Given the description of an element on the screen output the (x, y) to click on. 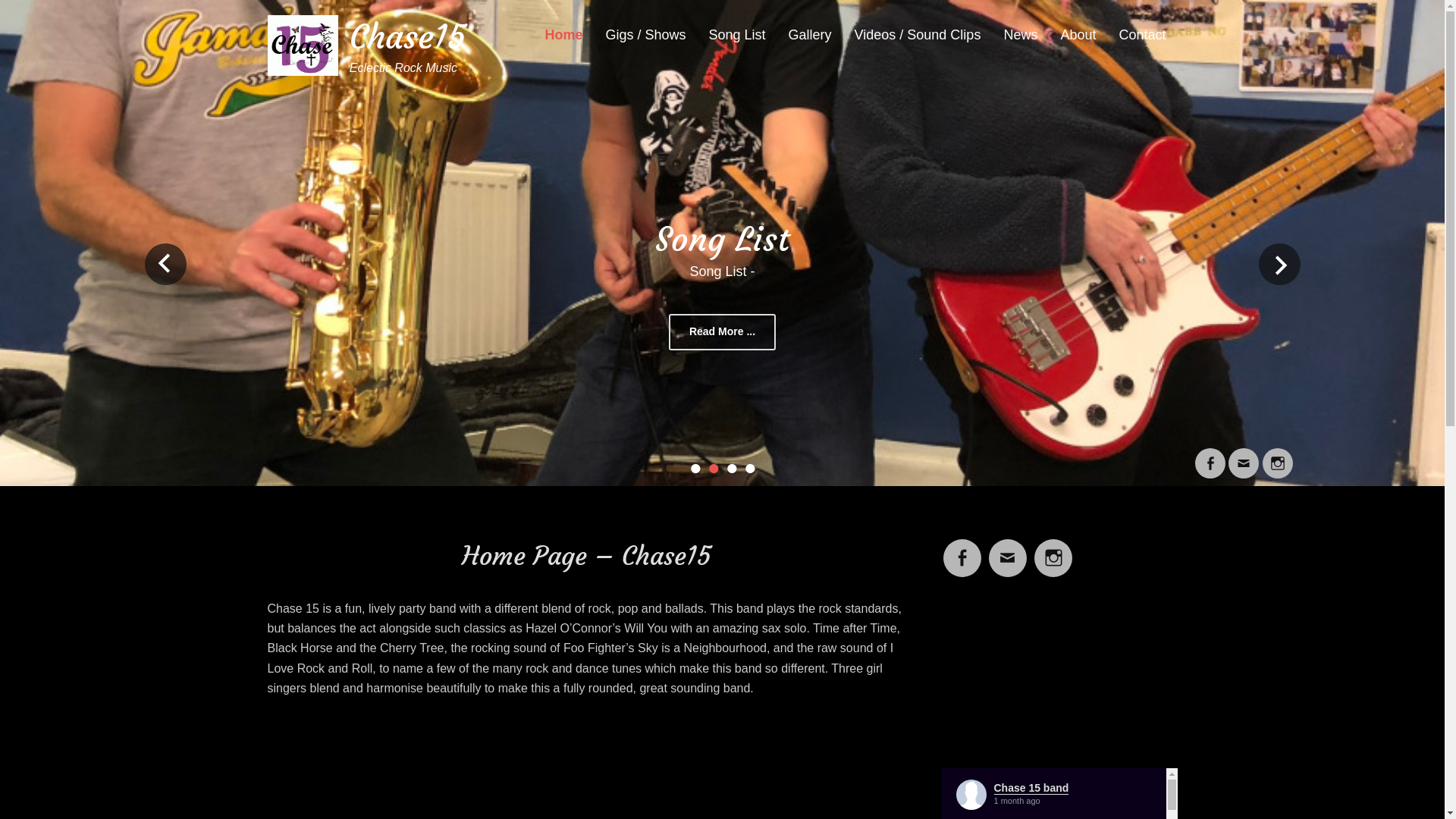
Videos / Sound Clips Element type: text (917, 35)
Chase15 Element type: text (407, 36)
Permalink to: Song List Element type: hover (722, 243)
Song List Element type: text (722, 239)
Previous Slide Element type: text (164, 264)
About Element type: text (1077, 35)
Email Element type: text (1007, 548)
Gallery Element type: text (810, 35)
Chase 15 band Element type: text (1030, 787)
News Element type: text (1019, 35)
Next Slide Element type: text (1279, 264)
Instagram Element type: text (1276, 457)
Email Element type: text (1243, 457)
Contact Element type: text (1141, 35)
Read More ... Element type: text (721, 331)
Instagram Element type: text (1053, 548)
Facebook Element type: text (962, 548)
Gigs / Shows Element type: text (644, 35)
Home Element type: text (563, 35)
Song List Element type: text (737, 35)
Facebook Element type: text (1210, 457)
